Given the description of an element on the screen output the (x, y) to click on. 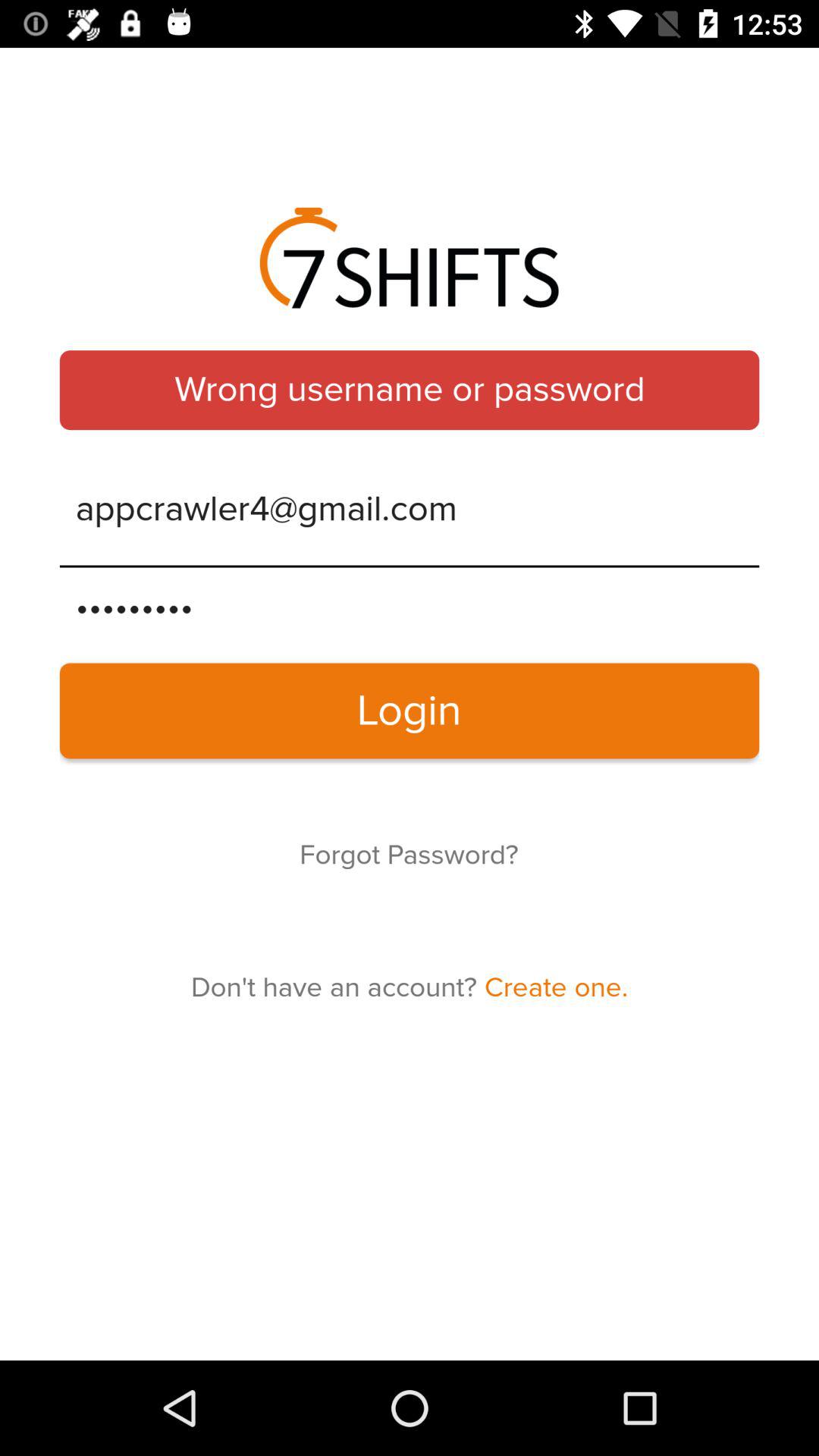
tap don t have (409, 987)
